Given the description of an element on the screen output the (x, y) to click on. 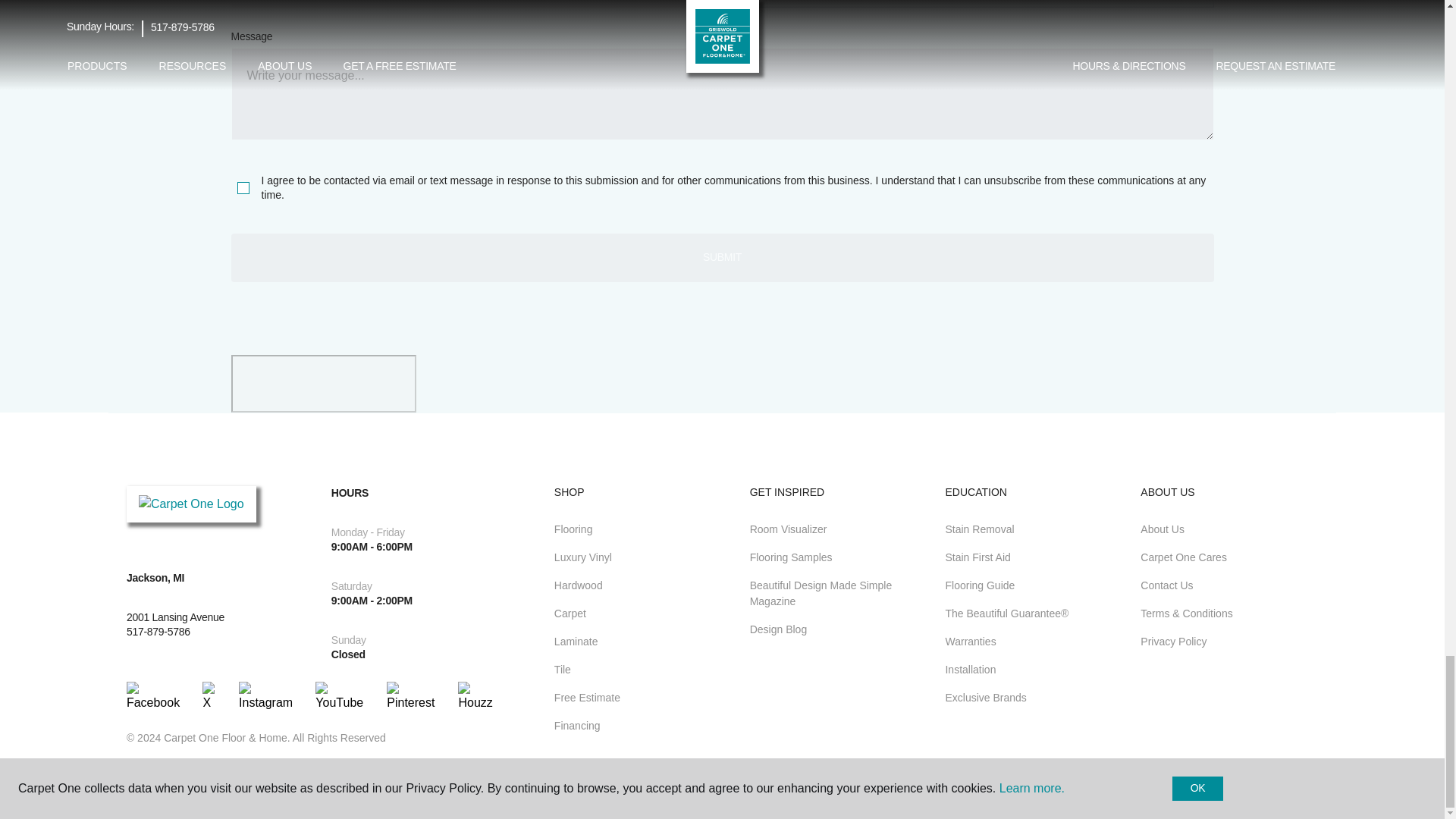
MyMessage (721, 93)
PostalCode (471, 4)
